Given the description of an element on the screen output the (x, y) to click on. 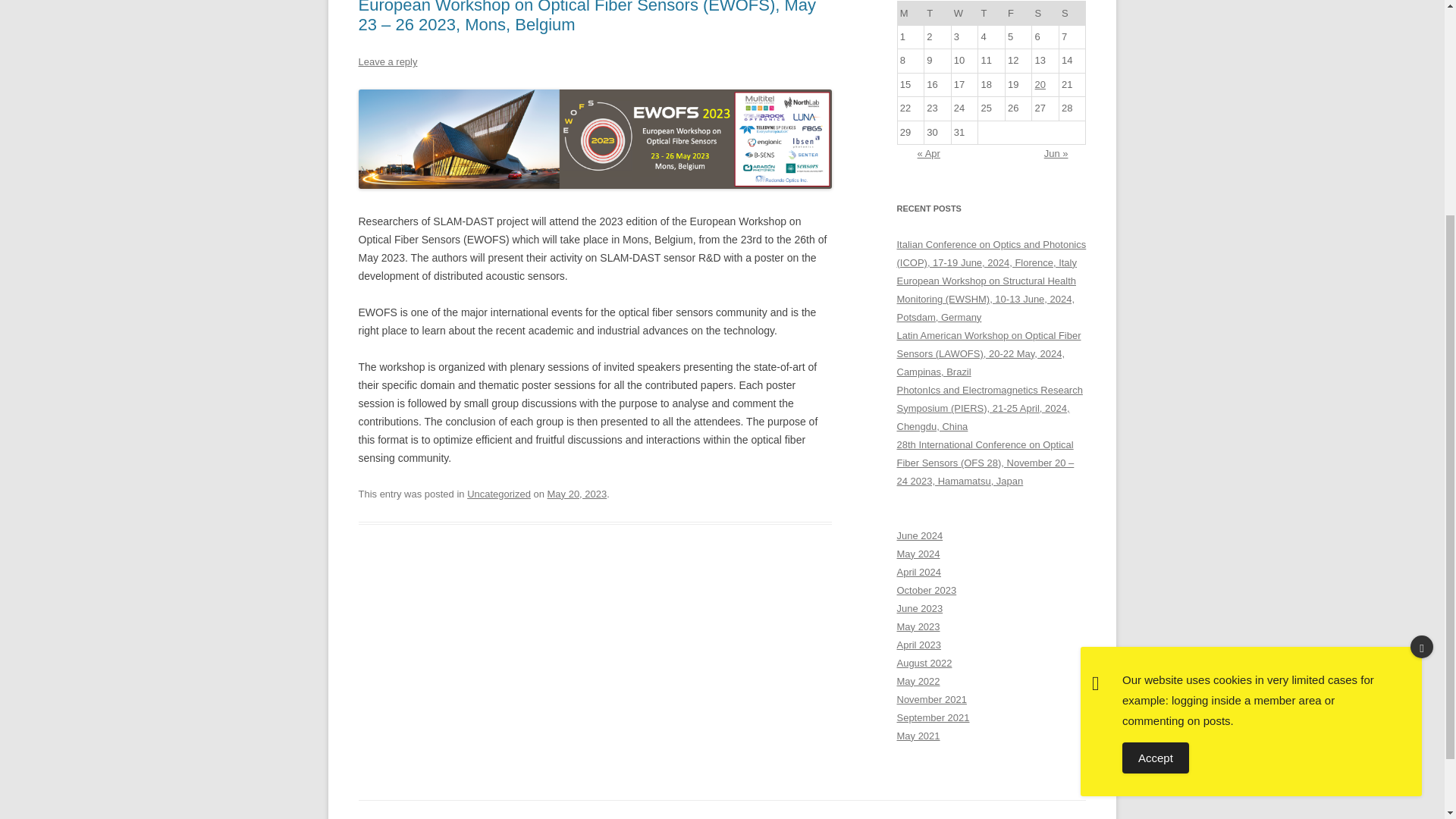
October 2023 (926, 590)
May 2024 (917, 553)
Monday (910, 13)
April 2023 (918, 644)
Uncategorized (499, 493)
April 2024 (918, 572)
Saturday (1045, 13)
Sunday (1072, 13)
20 (1040, 84)
Wednesday (964, 13)
Friday (1018, 13)
Tuesday (938, 13)
May 20, 2023 (577, 493)
June 2024 (919, 535)
May 2023 (917, 626)
